Given the description of an element on the screen output the (x, y) to click on. 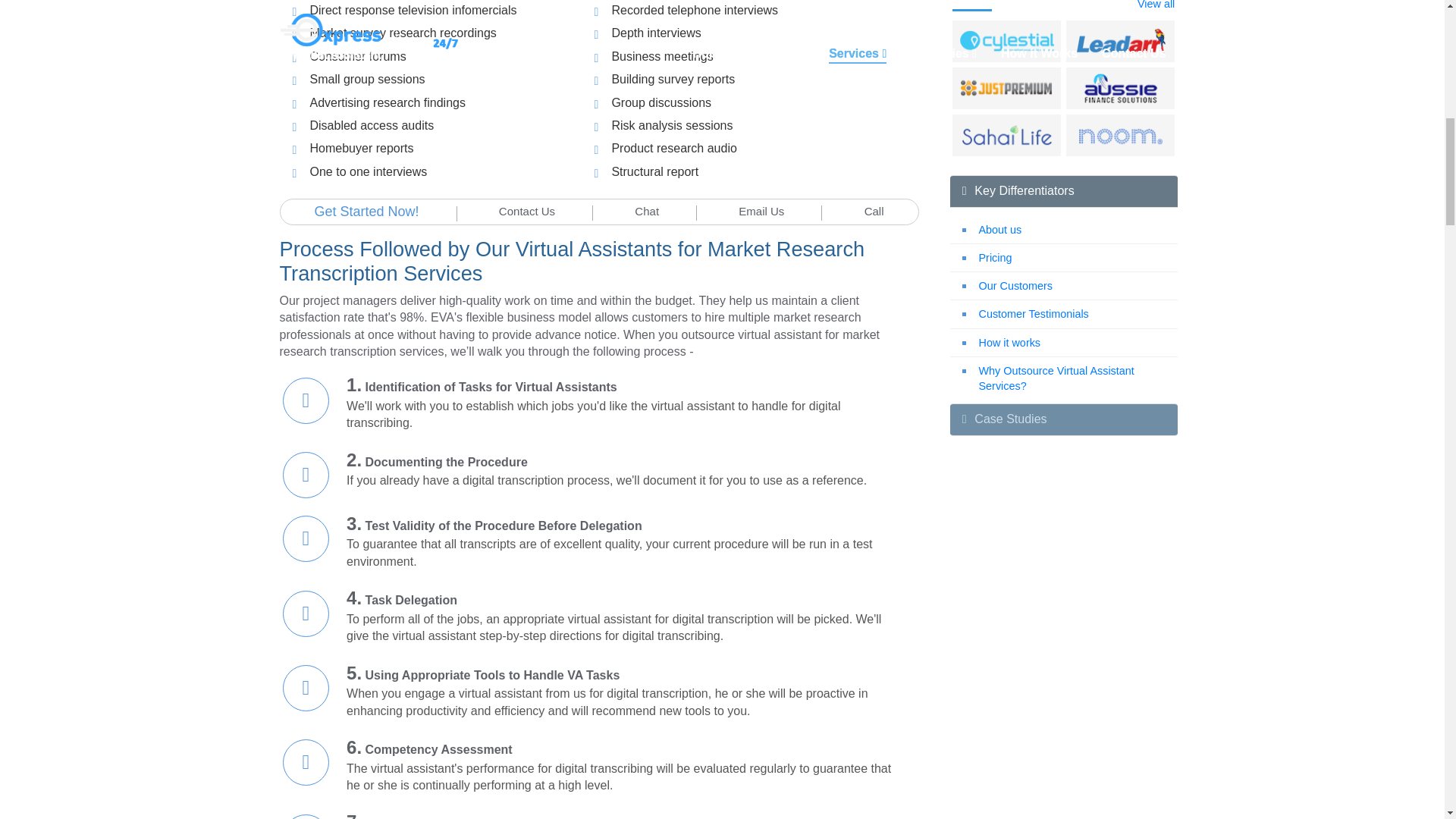
JustPremium (1006, 88)
Leadarr (1120, 41)
Chat (646, 210)
Celestial Systems (1006, 41)
Call (873, 210)
Noom (1120, 135)
Sahai Life (1006, 135)
Email Us (761, 210)
Aussie Finance Solutions (1120, 88)
Contact Us (526, 210)
